Given the description of an element on the screen output the (x, y) to click on. 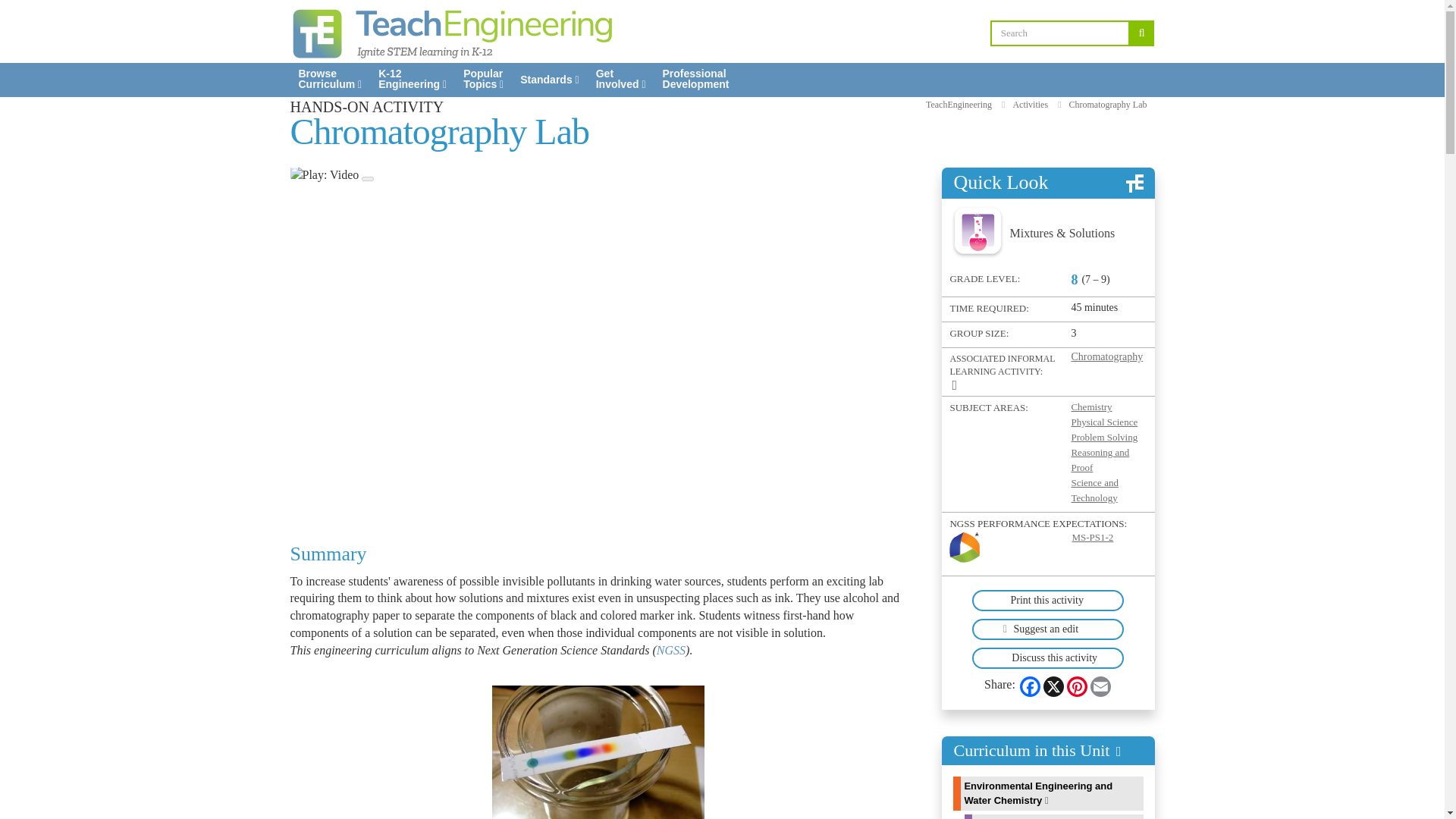
Chromatography Lab (411, 79)
Activities (695, 78)
Play: Video (329, 79)
TeachEngineering (1108, 104)
Standards (1030, 104)
